Given the description of an element on the screen output the (x, y) to click on. 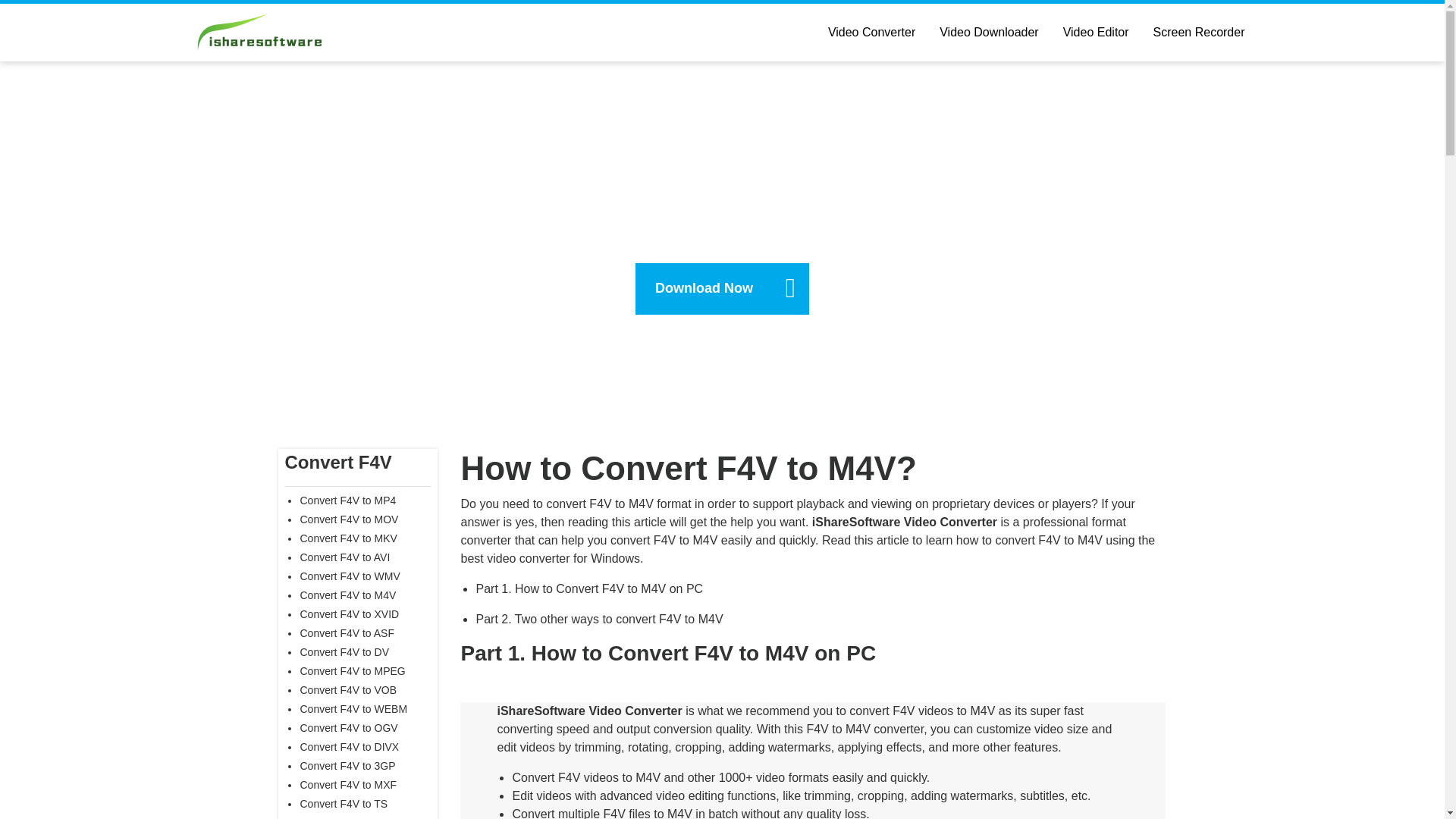
Convert F4V to TS (343, 803)
Screen Recorder (1199, 32)
Part 1. How to Convert F4V to M4V on PC (589, 588)
Download Now (721, 288)
Video Editor (1096, 32)
Convert F4V to MPEG (351, 671)
Convert F4V to OGV (348, 727)
Convert F4V to MP4 (347, 500)
iShareSoftware Video Converter (588, 710)
Convert F4V to WMV (348, 576)
Convert F4V to 3GP (346, 766)
Video Downloader (988, 32)
Video Converter (871, 32)
Convert F4V to XVID (348, 613)
Part 2. Two other ways to convert F4V to M4V (599, 618)
